Given the description of an element on the screen output the (x, y) to click on. 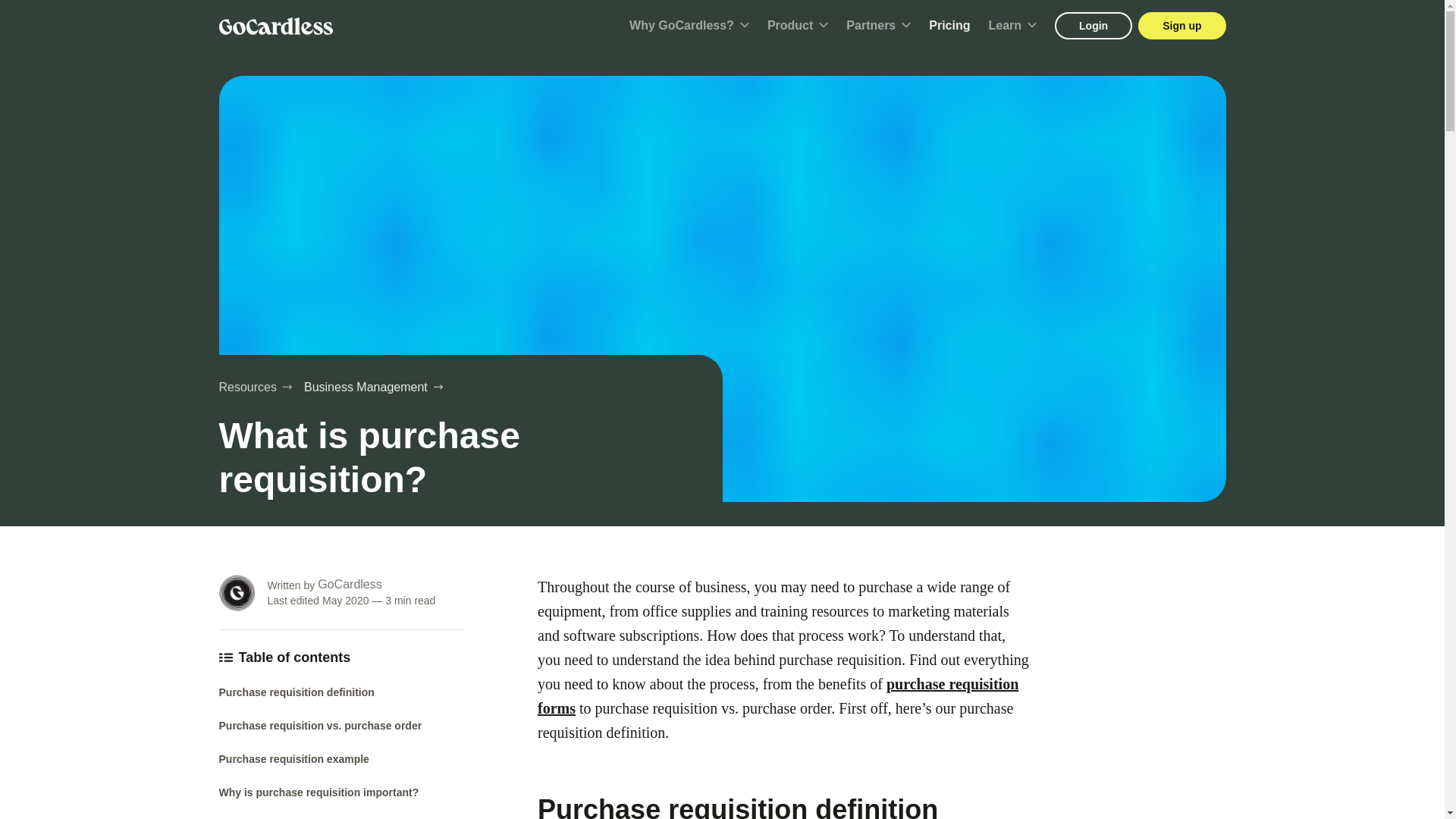
Why GoCardless? (688, 25)
Product (797, 25)
